Given the description of an element on the screen output the (x, y) to click on. 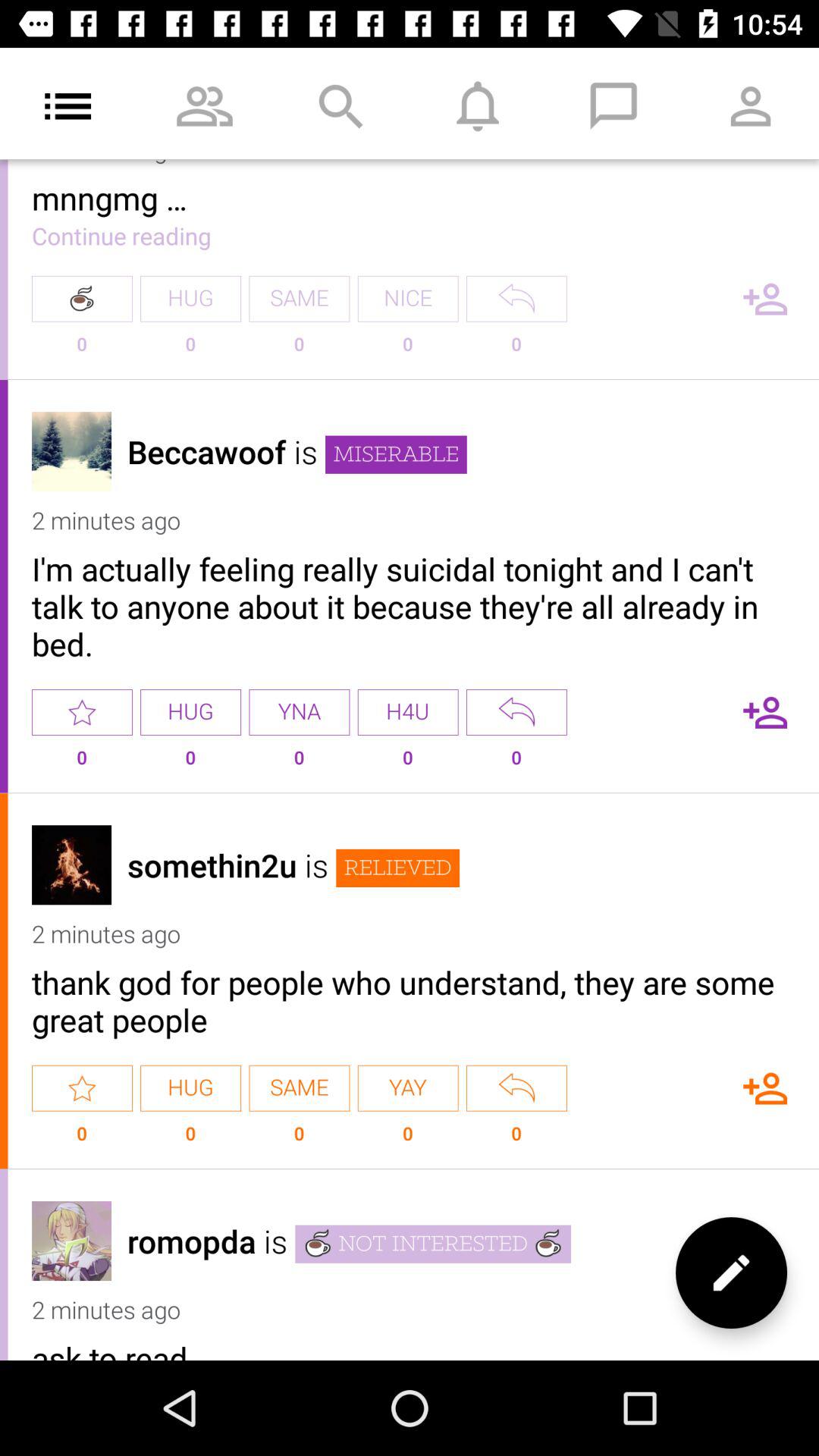
reply to post (516, 1088)
